Given the description of an element on the screen output the (x, y) to click on. 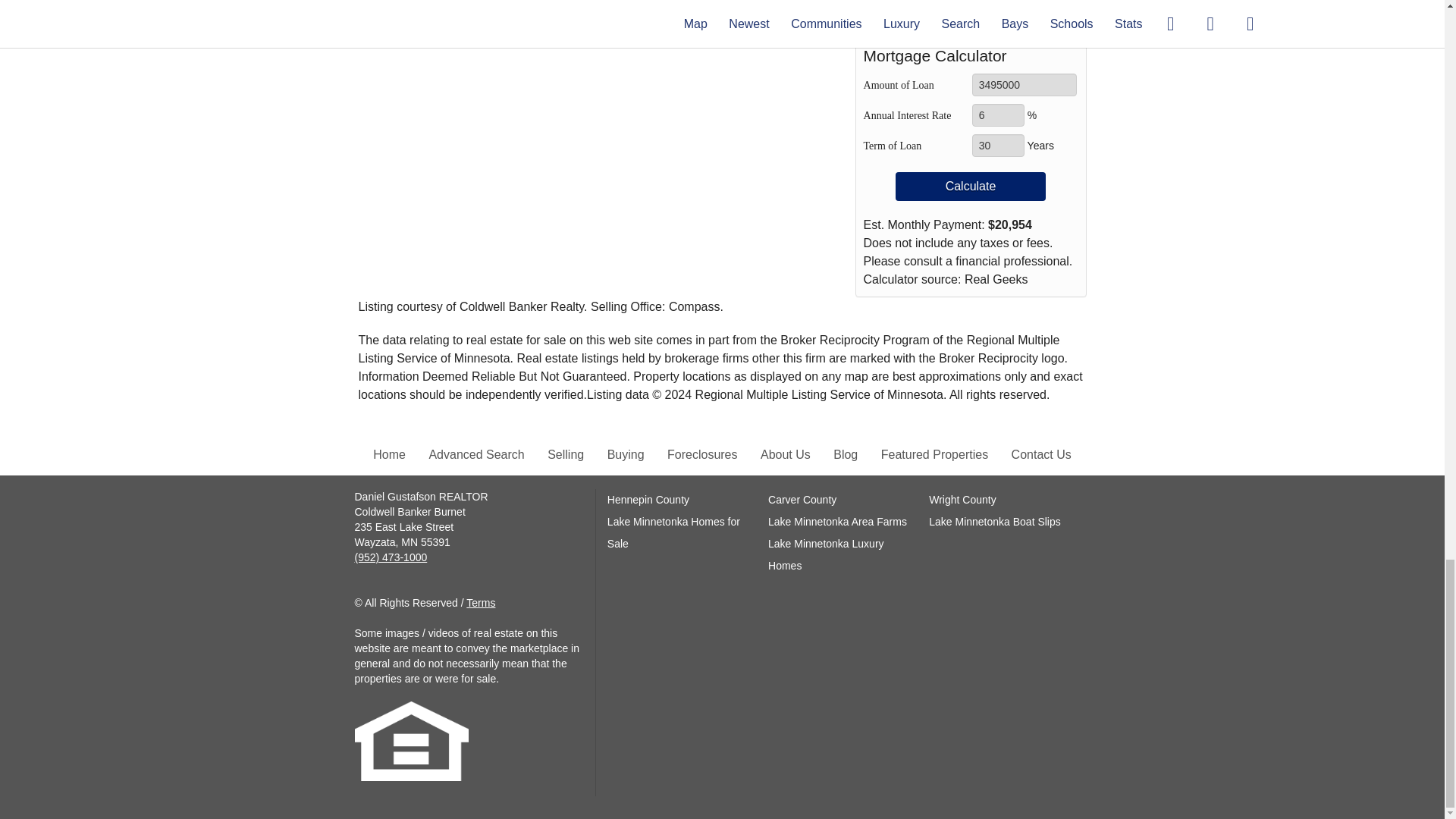
6 (998, 115)
3495000 (1024, 84)
30 (998, 145)
